Given the description of an element on the screen output the (x, y) to click on. 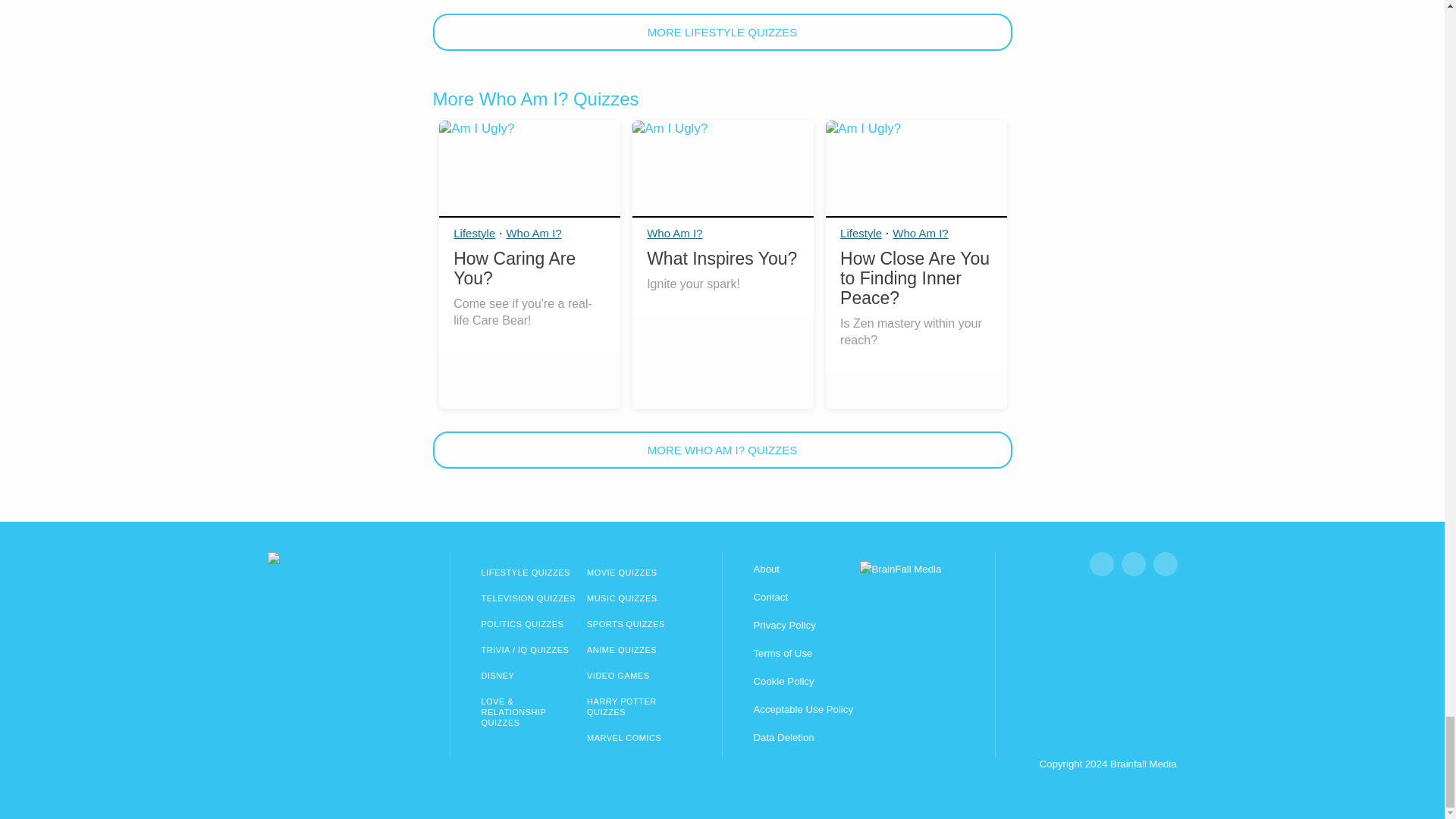
Follow us on Instagram! (1132, 564)
Like us on Facebook! (1101, 564)
Follow us on Twitter! (1164, 564)
